Given the description of an element on the screen output the (x, y) to click on. 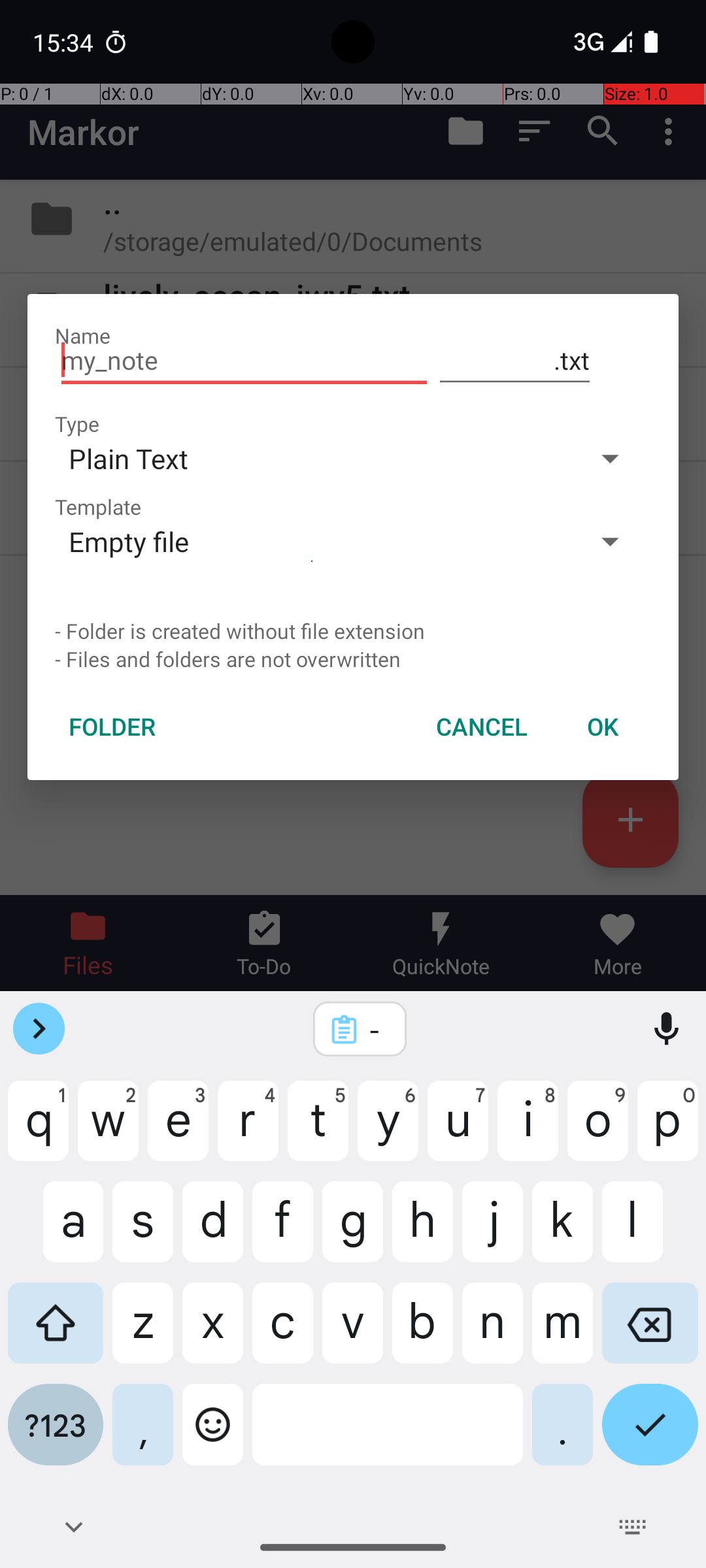
.txt Element type: android.widget.EditText (514, 360)
